Given the description of an element on the screen output the (x, y) to click on. 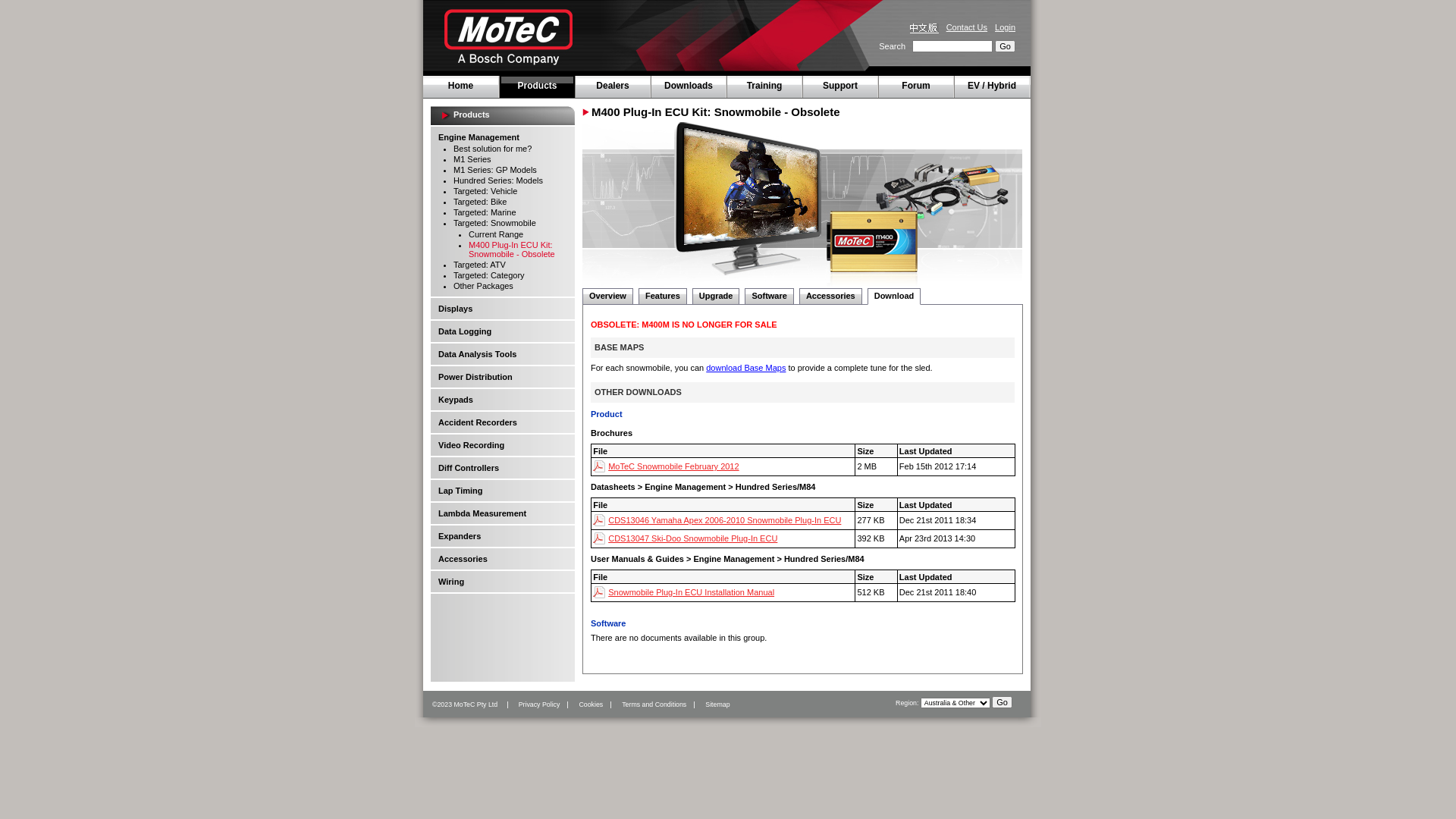
Targeted: Vehicle Element type: text (485, 190)
Lap Timing Element type: text (460, 490)
CDS13047 Ski-Doo Snowmobile Plug-In ECU Element type: text (685, 538)
Privacy Policy Element type: text (529, 704)
Expanders Element type: text (459, 535)
Go Element type: text (1004, 46)
Cookies Element type: text (580, 704)
MoTeC Snowmobile February 2012 Element type: text (665, 466)
Targeted: Category Element type: text (488, 274)
M400 Plug-In ECU Kit: Snowmobile - Obsolete Element type: text (511, 249)
Training Element type: text (764, 86)
Overview Element type: text (607, 295)
Data Analysis Tools Element type: text (477, 353)
EV / Hybrid Element type: text (991, 86)
M1 Series Element type: text (472, 158)
Features Element type: text (662, 295)
Hundred Series: Models Element type: text (497, 180)
Contact Us Element type: text (966, 26)
Targeted: Snowmobile Element type: text (494, 222)
Power Distribution Element type: text (475, 376)
Wiring Element type: text (451, 581)
Data Logging Element type: text (464, 330)
Login Element type: text (1004, 26)
Targeted: ATV Element type: text (479, 264)
Support Element type: text (840, 86)
Download Element type: text (894, 295)
Sitemap Element type: text (707, 704)
Home Element type: text (460, 86)
Forum Element type: text (915, 86)
Products Element type: text (536, 86)
Upgrade Element type: text (716, 295)
Other Packages Element type: text (483, 285)
Engine Management Element type: text (478, 136)
Go Element type: text (1001, 702)
download Base Maps Element type: text (745, 367)
Snowmobile Plug-In ECU Installation Manual Element type: text (683, 591)
M1 Series: GP Models Element type: text (494, 169)
Accident Recorders Element type: text (477, 421)
Dealers Element type: text (612, 86)
Video Recording Element type: text (471, 444)
Diff Controllers Element type: text (468, 467)
CDS13046 Yamaha Apex 2006-2010 Snowmobile Plug-In ECU Element type: text (716, 519)
Keypads Element type: text (455, 399)
Lambda Measurement Element type: text (482, 512)
Software Element type: text (768, 295)
Accessories Element type: text (830, 295)
Targeted: Bike Element type: text (479, 201)
Targeted: Marine Element type: text (484, 211)
Terms and Conditions Element type: text (644, 704)
Displays Element type: text (455, 308)
Accessories Element type: text (462, 558)
Current Range Element type: text (495, 233)
Best solution for me? Element type: text (492, 148)
Downloads Element type: text (688, 86)
